Given the description of an element on the screen output the (x, y) to click on. 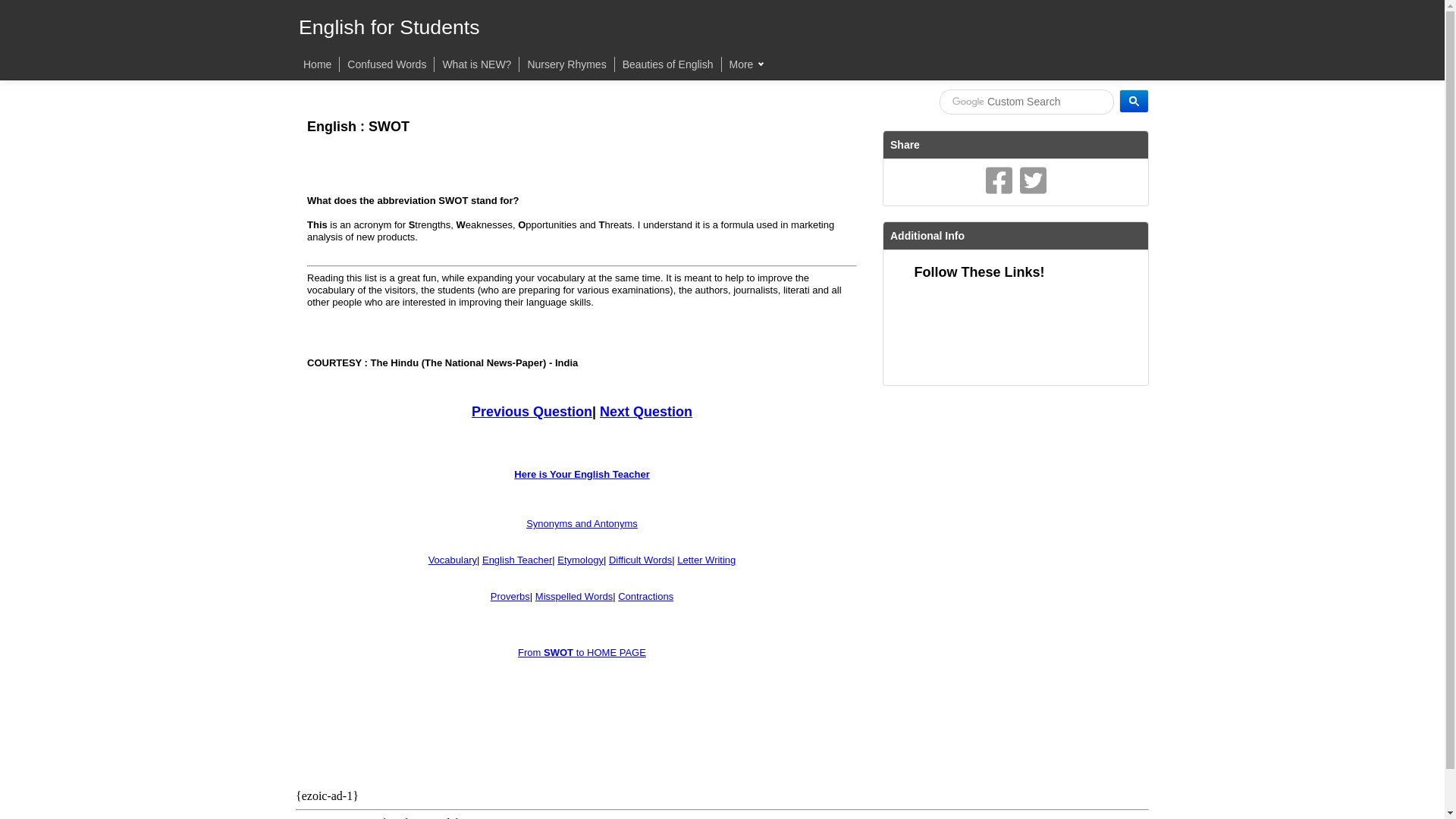
Confused Words (386, 64)
Vocabulary (452, 559)
Synonyms and Antonyms (581, 523)
Home (316, 64)
Difficult Words (639, 559)
Here is Your English Teacher (581, 473)
Nursery Rhymes (566, 64)
English Teacher (516, 559)
Etymology (580, 559)
Previous Question (531, 410)
Next Question (646, 410)
Beauties of English (668, 64)
search (1026, 101)
More (745, 64)
search (1133, 101)
